Given the description of an element on the screen output the (x, y) to click on. 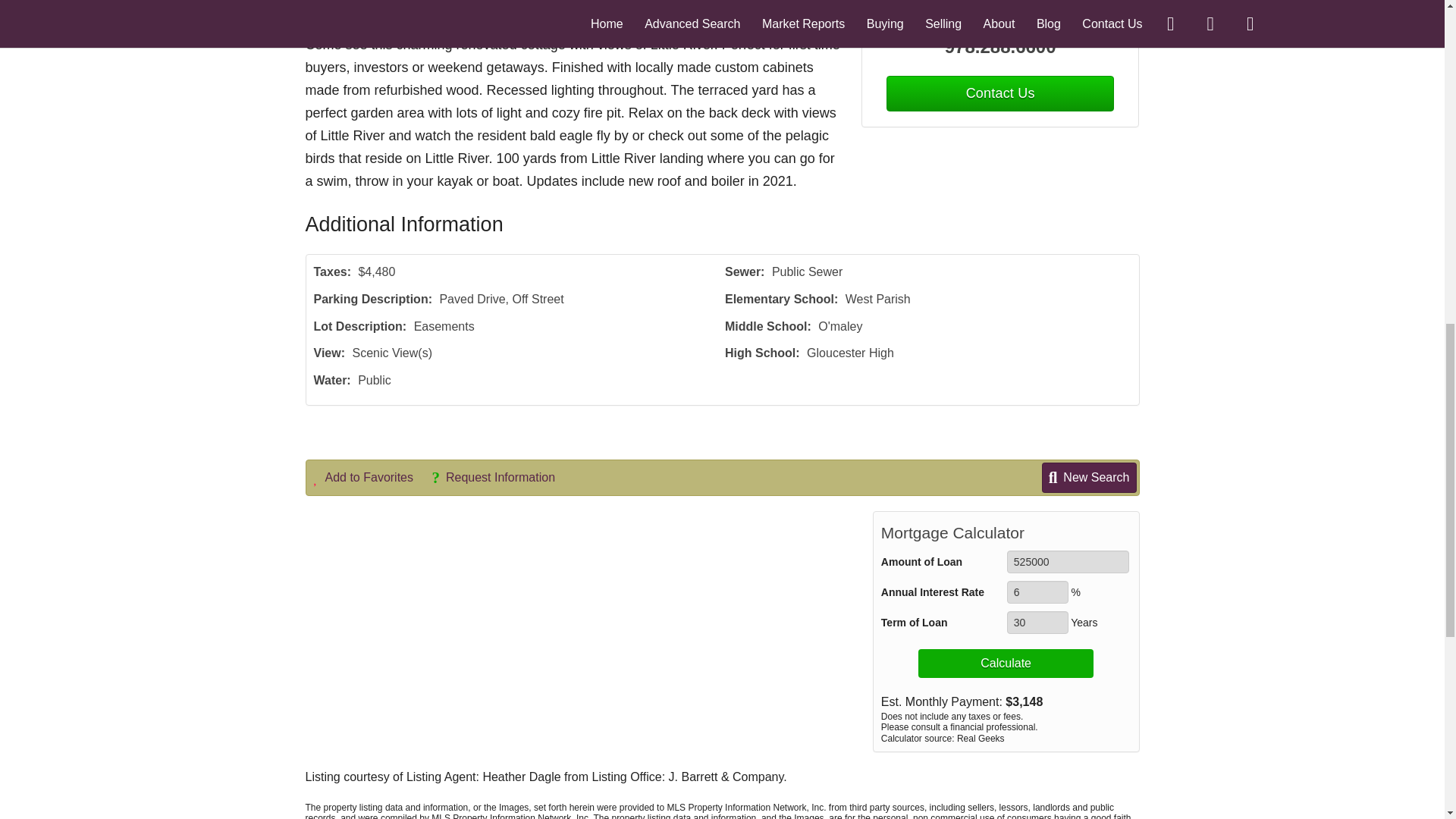
525000 (1068, 561)
Contact Us (999, 93)
978.288.6600 (1000, 46)
30 (1037, 621)
6 (1037, 591)
